Given the description of an element on the screen output the (x, y) to click on. 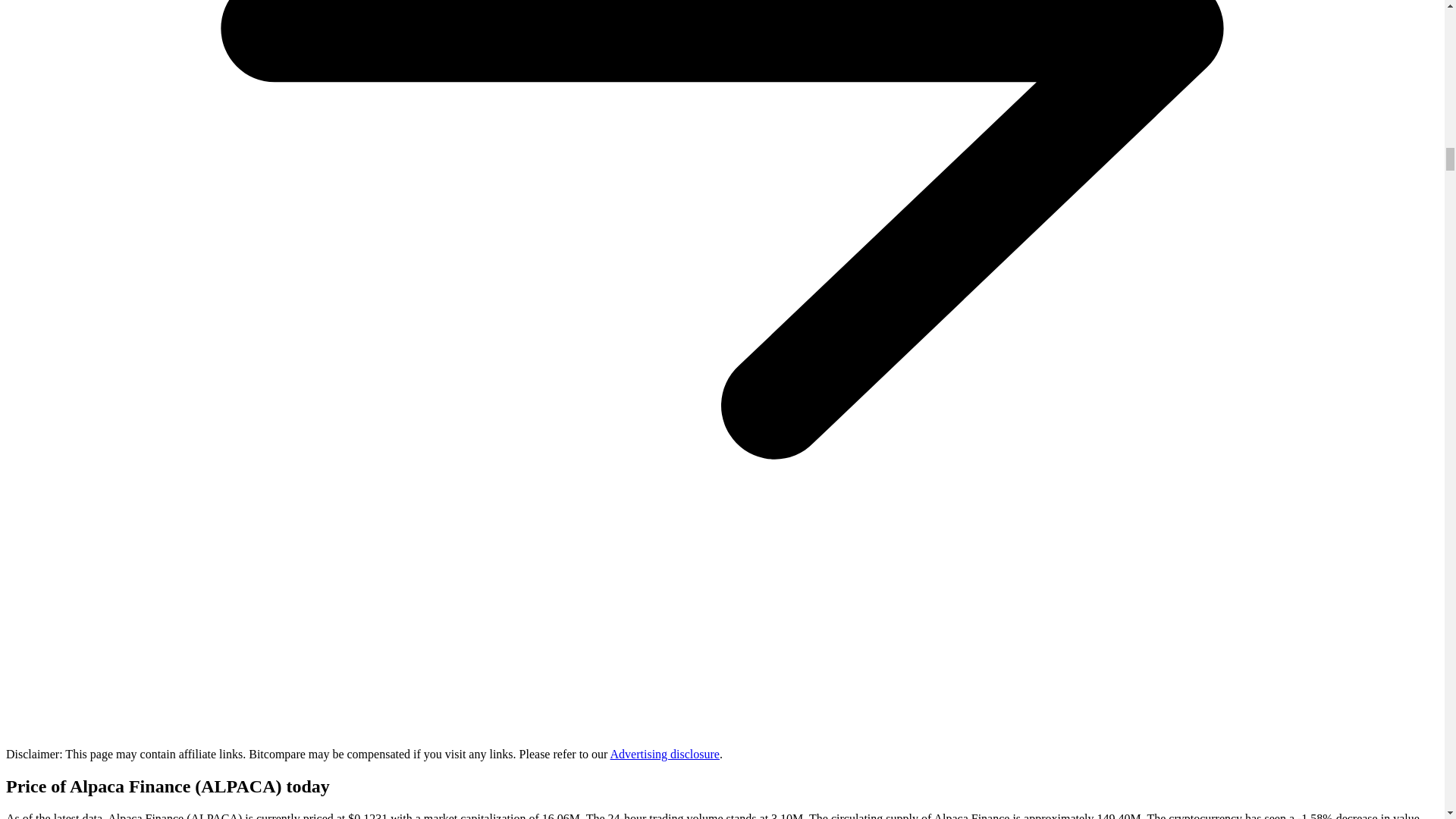
Advertising disclosure (664, 753)
